Given the description of an element on the screen output the (x, y) to click on. 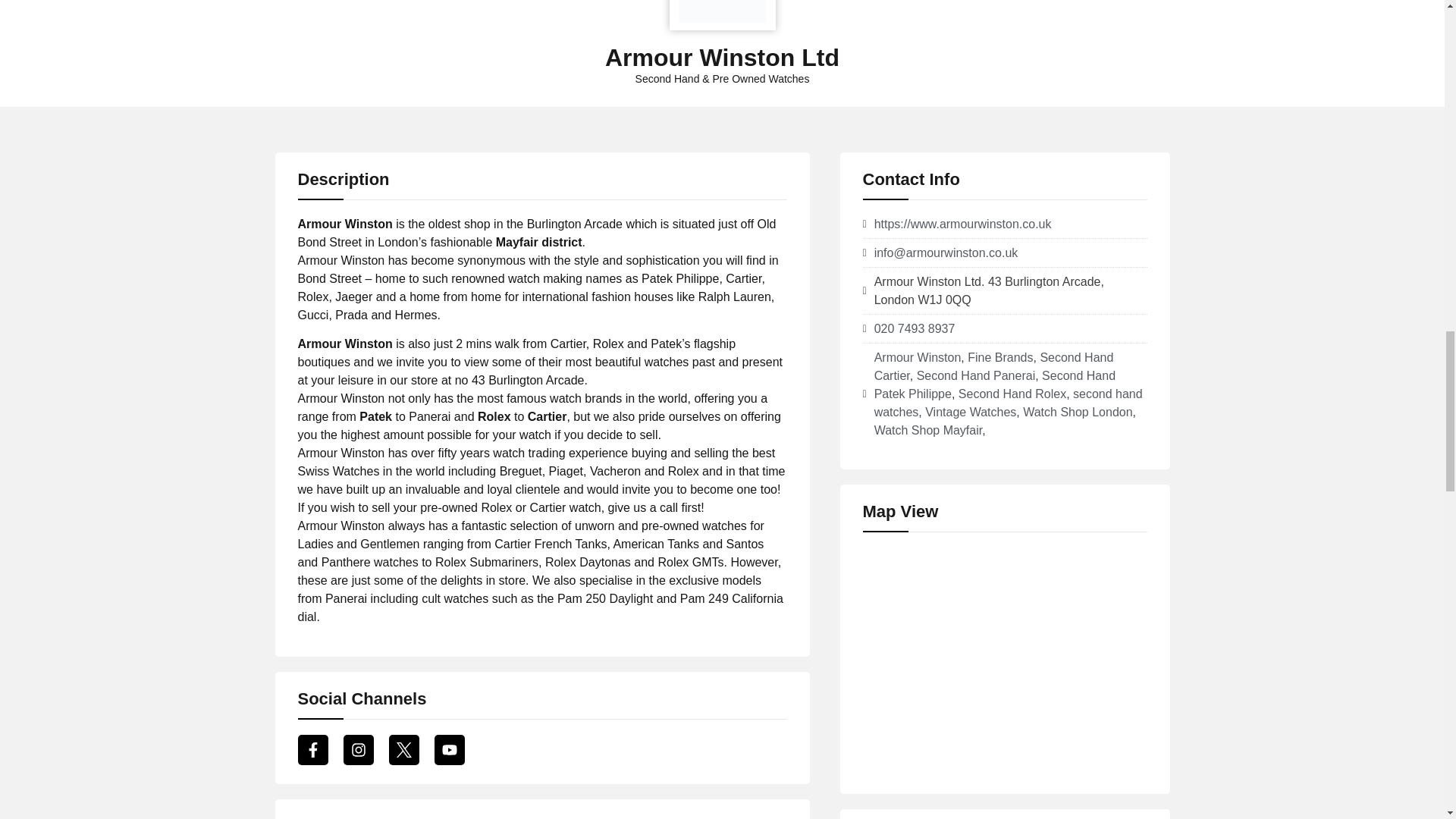
Armour Winston Ltd. 43 Burlington Arcade, London W1J 0QQ (1005, 660)
